Given the description of an element on the screen output the (x, y) to click on. 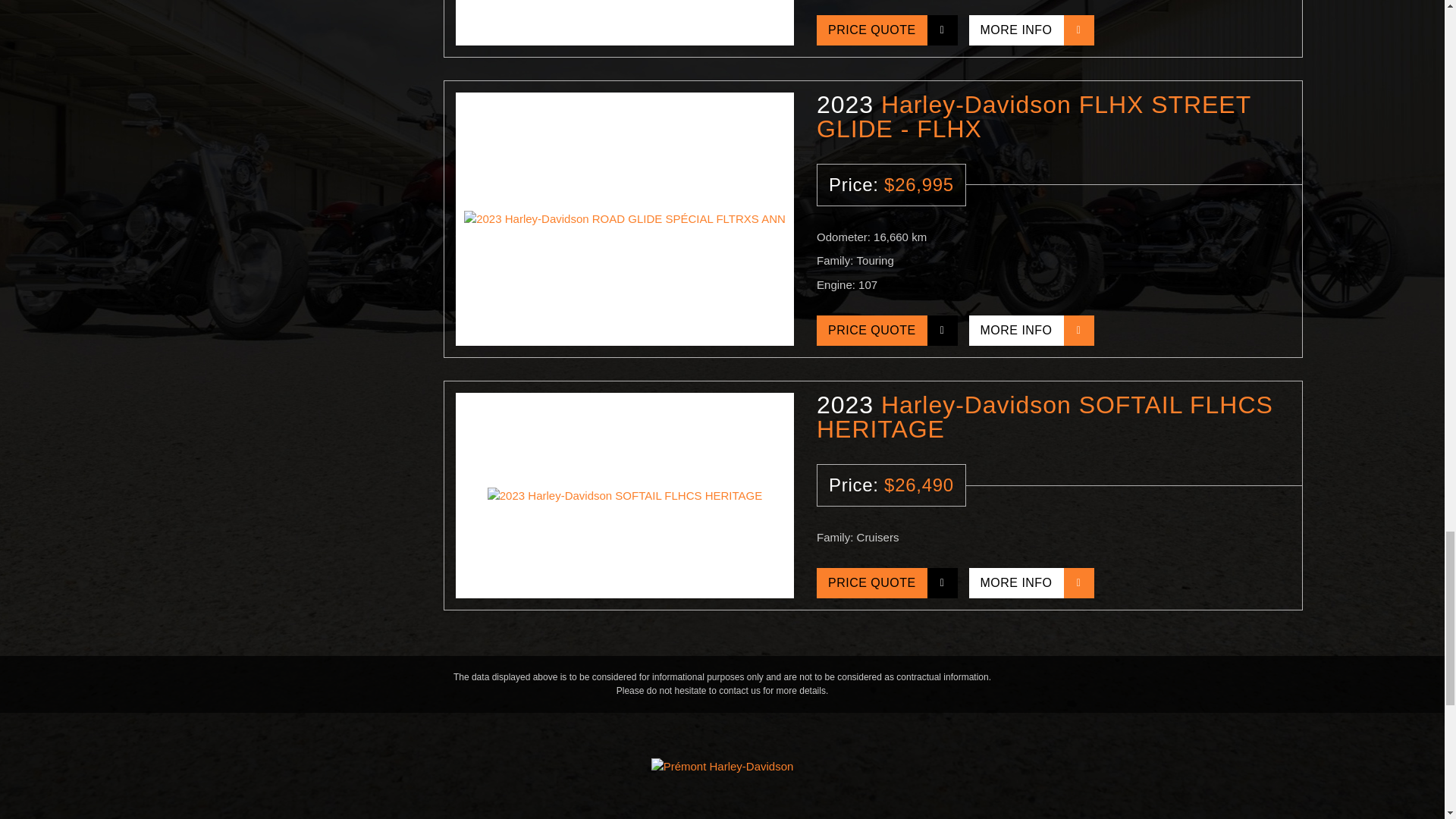
2023 Harley-Davidson SOFTAIL FLHCS HERITAGE (624, 495)
